Given the description of an element on the screen output the (x, y) to click on. 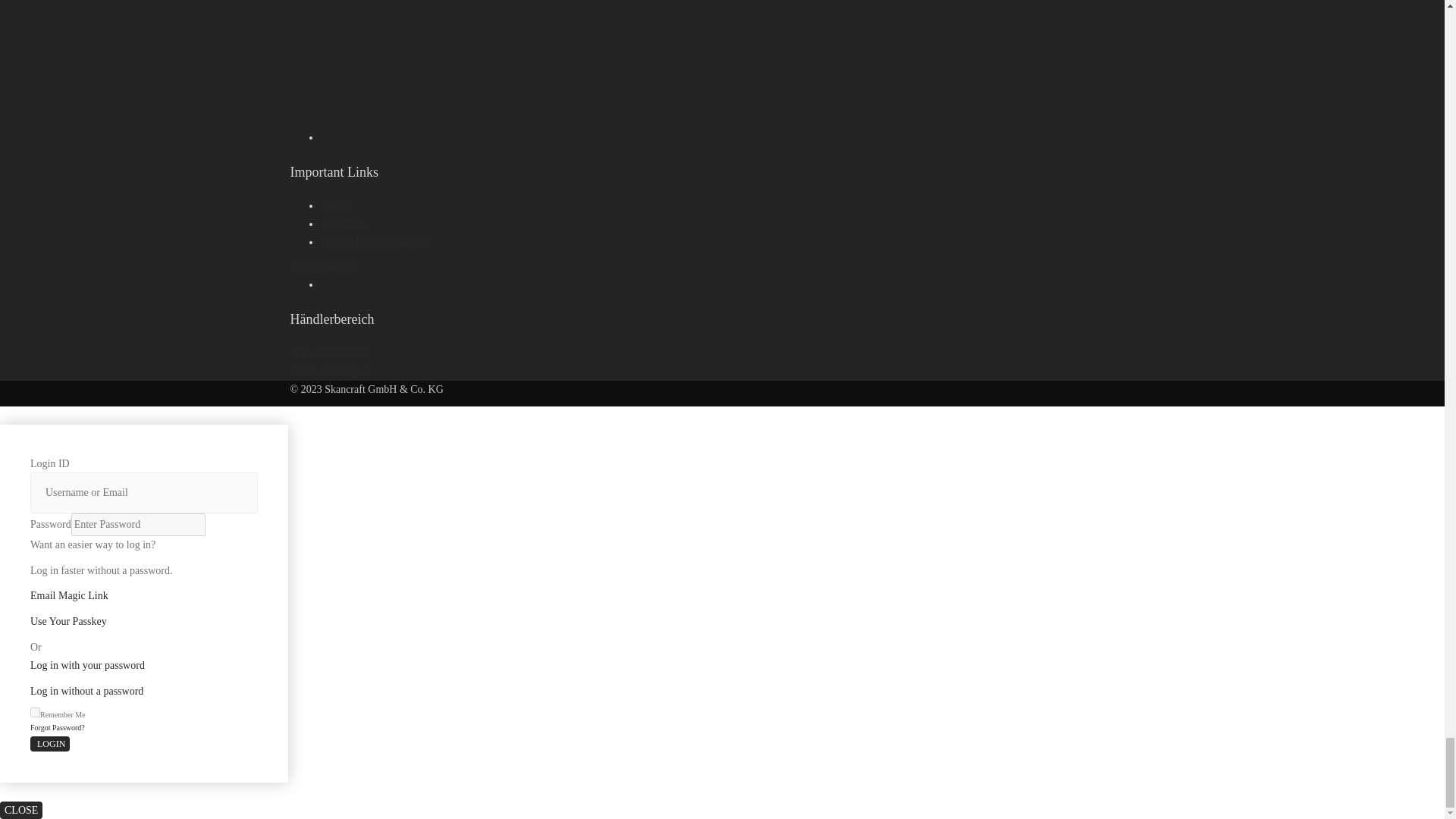
forever (35, 712)
